Given the description of an element on the screen output the (x, y) to click on. 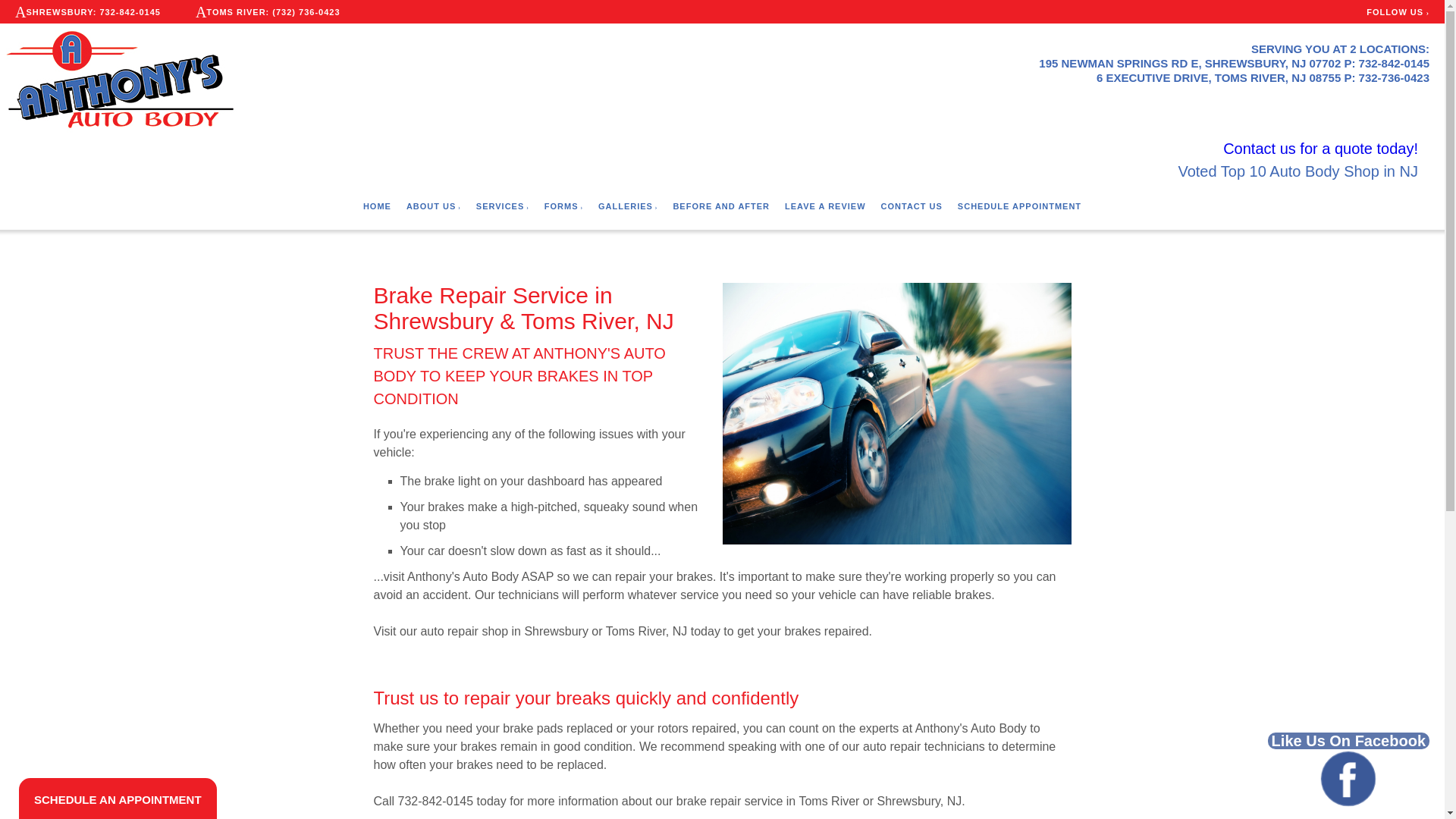
BEFORE AND AFTER (721, 206)
HOME (376, 206)
Contact us for a quote today! (1320, 148)
Shrewsbury: 732-842-0145 (90, 11)
SCHEDULE APPOINTMENT (1019, 206)
LEAVE A REVIEW (825, 206)
CONTACT US (911, 206)
